Given the description of an element on the screen output the (x, y) to click on. 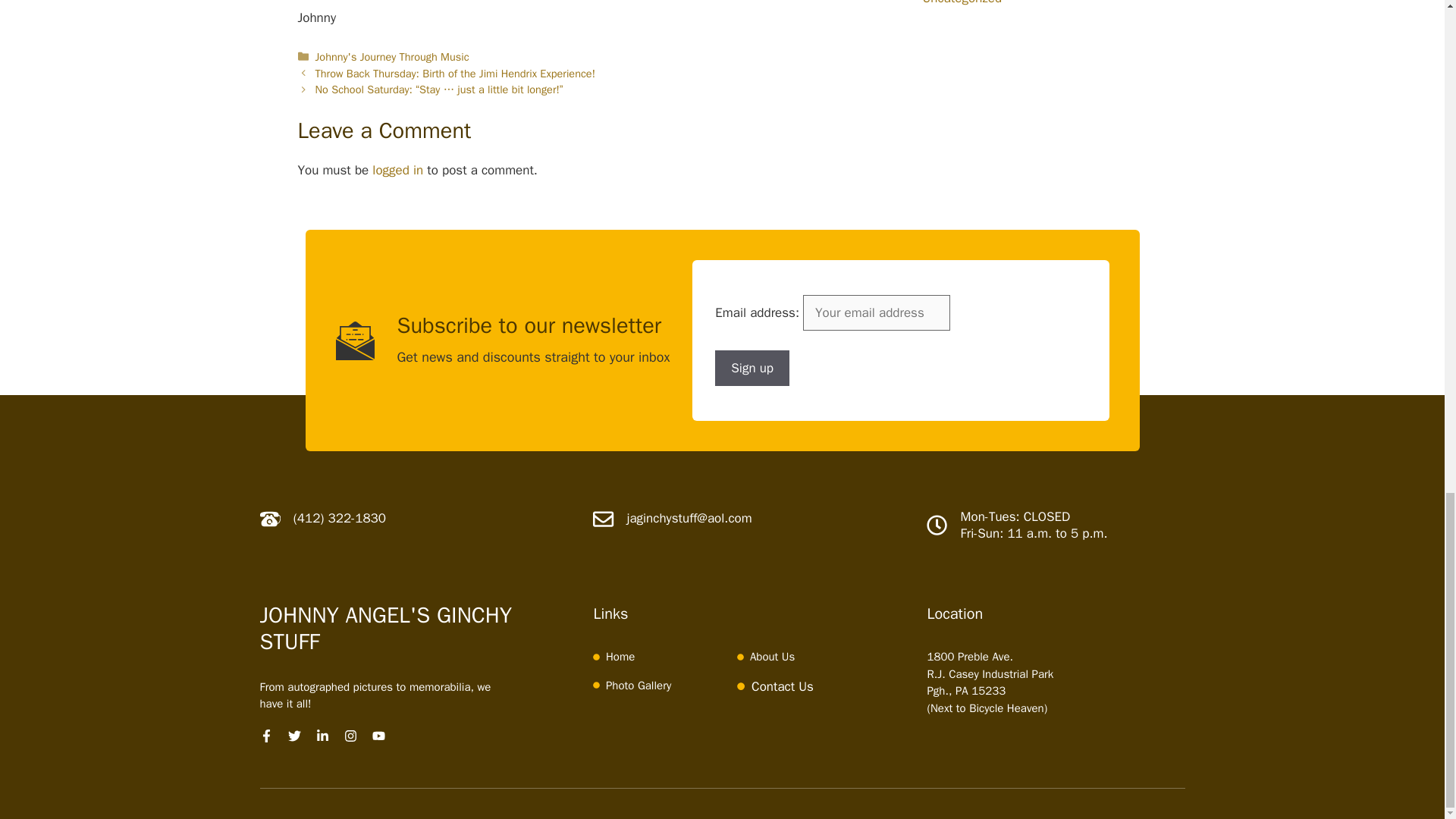
Photo Gallery (638, 685)
Sign up (751, 368)
Throw Back Thursday: Birth of the Jimi Hendrix Experience! (455, 73)
logged in (397, 170)
Sign up (751, 368)
Home (619, 656)
About Us (771, 656)
Johnny's Journey Through Music (391, 56)
Uncategorized (961, 2)
